Given the description of an element on the screen output the (x, y) to click on. 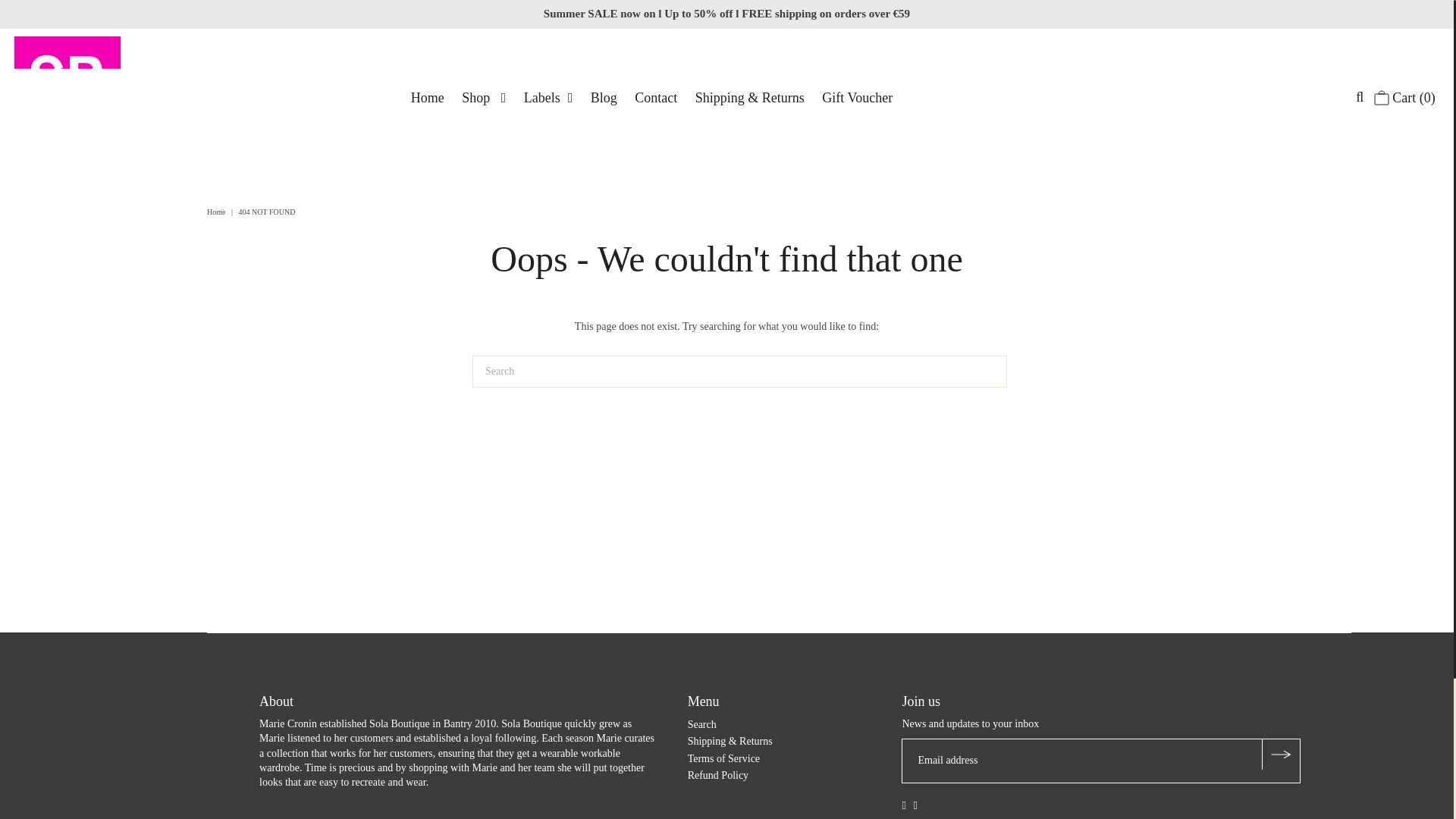
Home (427, 97)
Shop (483, 97)
Home (217, 212)
